Given the description of an element on the screen output the (x, y) to click on. 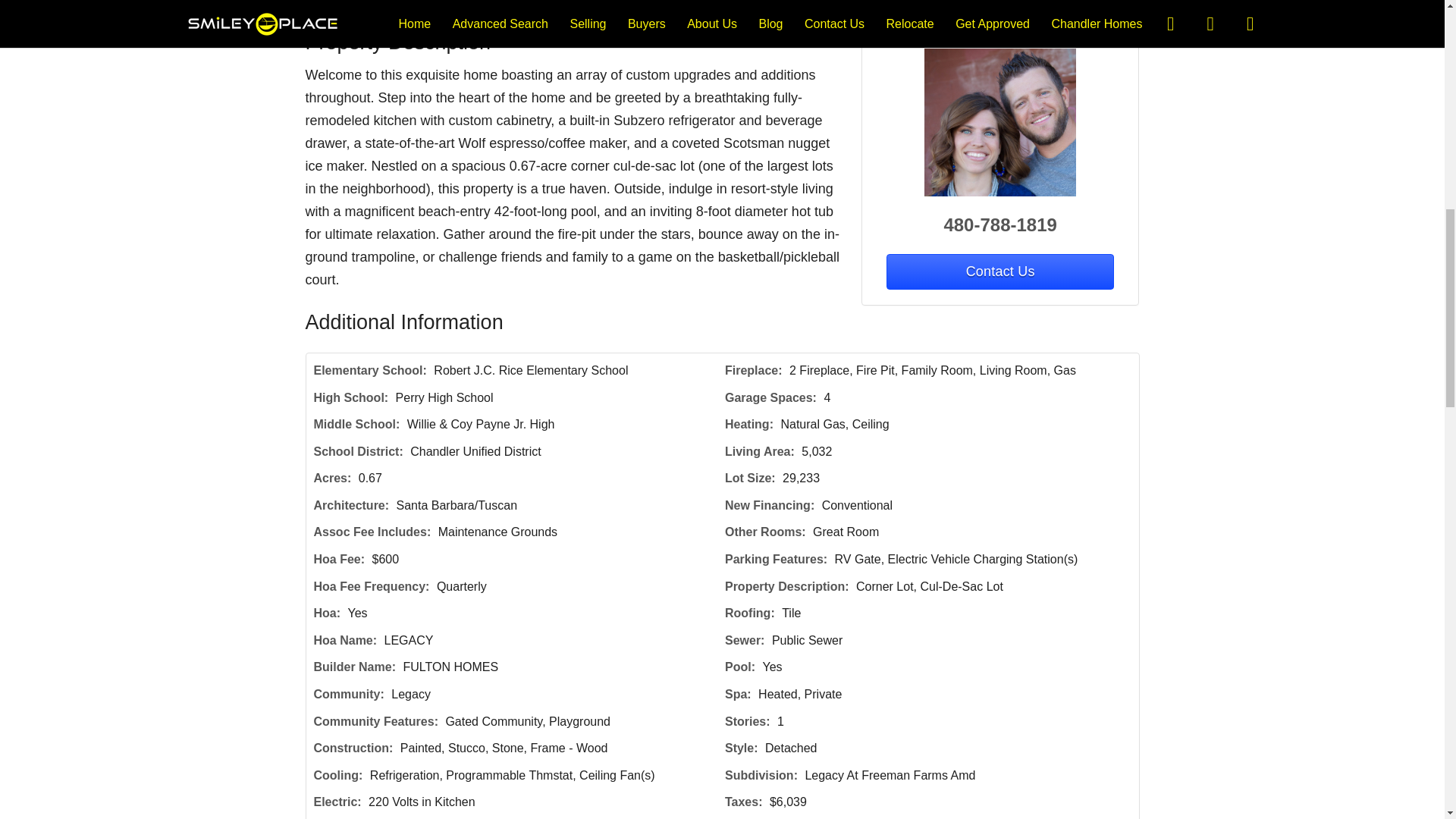
Share (603, 5)
New Search (1090, 5)
Call Us (437, 5)
Contact Us (357, 5)
View on Map (521, 5)
